Given the description of an element on the screen output the (x, y) to click on. 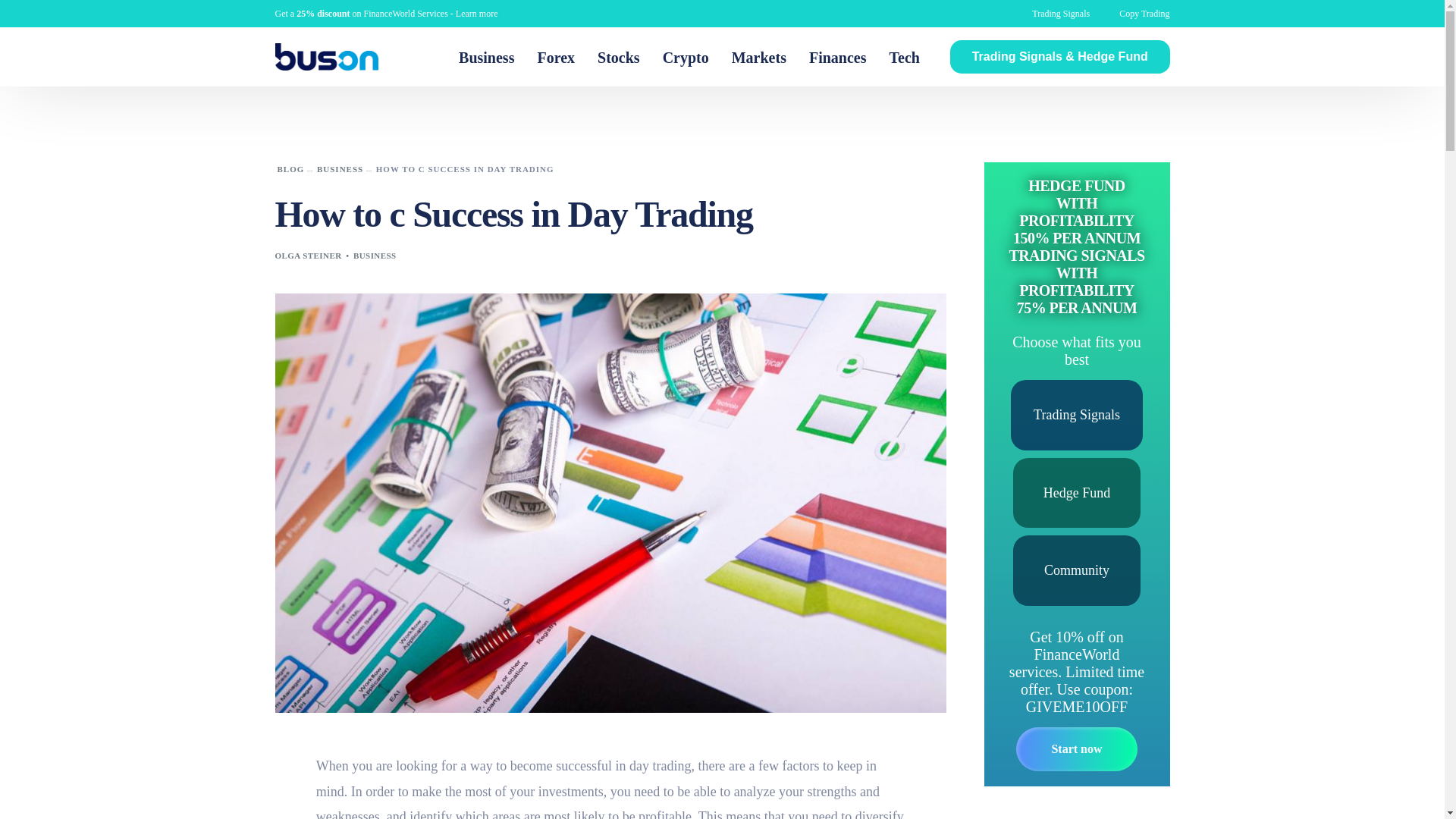
Community (1076, 570)
Forex (555, 56)
Copy Trading (1144, 13)
trading (671, 765)
BUSINESS (374, 255)
Tech (904, 56)
Learn more (476, 13)
Posts tagged with trading (671, 765)
Trading Signals (1076, 414)
Crypto (685, 56)
Trading Signals (1060, 13)
Start now (1076, 749)
Finances (837, 56)
Stocks (618, 56)
Markets (758, 56)
